Given the description of an element on the screen output the (x, y) to click on. 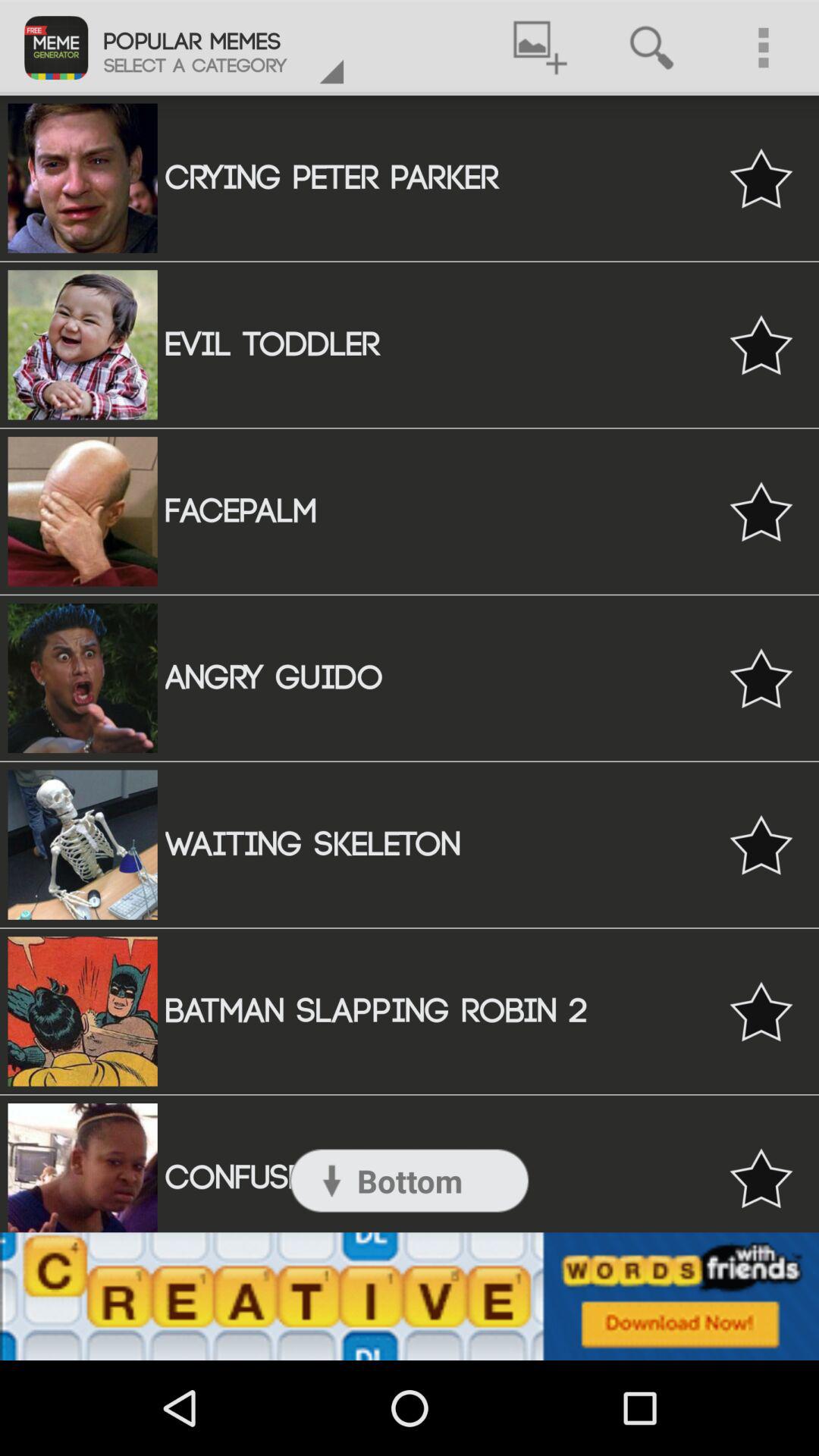
choose this item (761, 511)
